Given the description of an element on the screen output the (x, y) to click on. 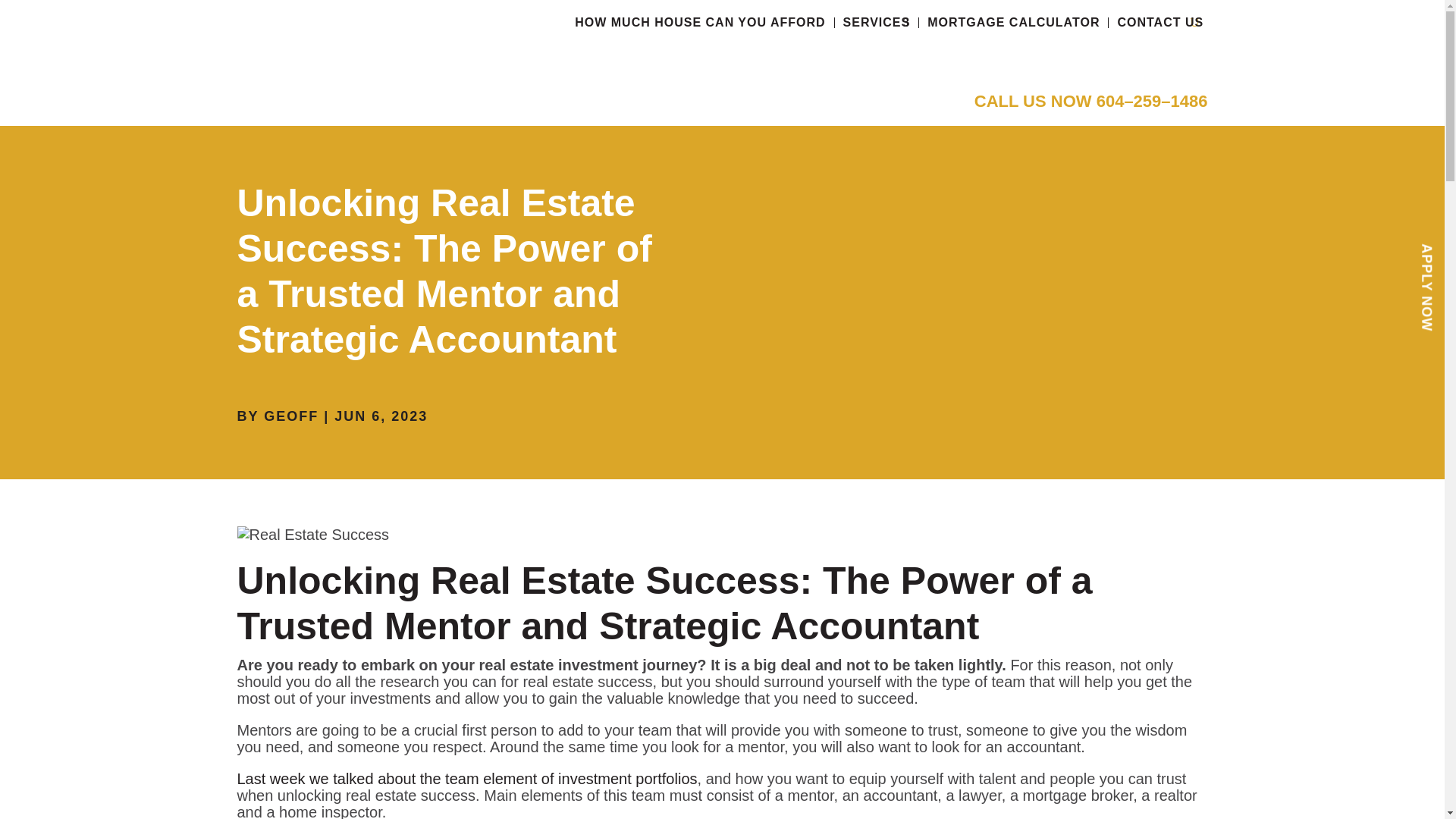
HOW MUCH HOUSE CAN YOU AFFORD (700, 22)
SERVICES (877, 22)
GEOFF (290, 416)
Posts by Geoff (290, 416)
CONTACT US (1160, 22)
MORTGAGE CALCULATOR (1013, 22)
